Given the description of an element on the screen output the (x, y) to click on. 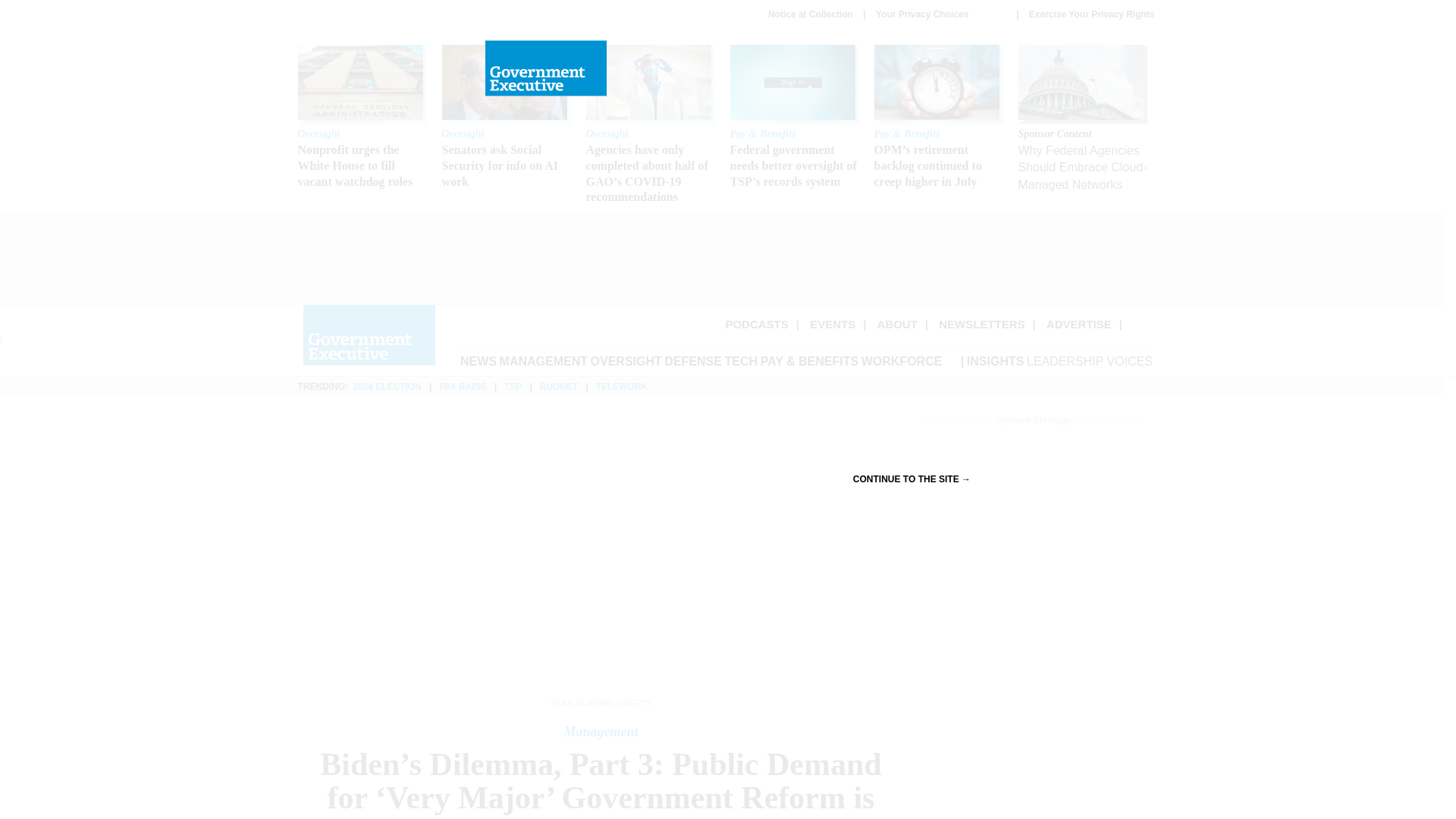
NEWSLETTERS (982, 323)
ABOUT (897, 323)
PODCASTS (756, 323)
ADVERTISE (1079, 323)
Notice at Collection (810, 14)
Exercise Your Privacy Rights (1091, 14)
3rd party ad content (721, 258)
Your Privacy Choices (941, 14)
EVENTS (832, 323)
